Given the description of an element on the screen output the (x, y) to click on. 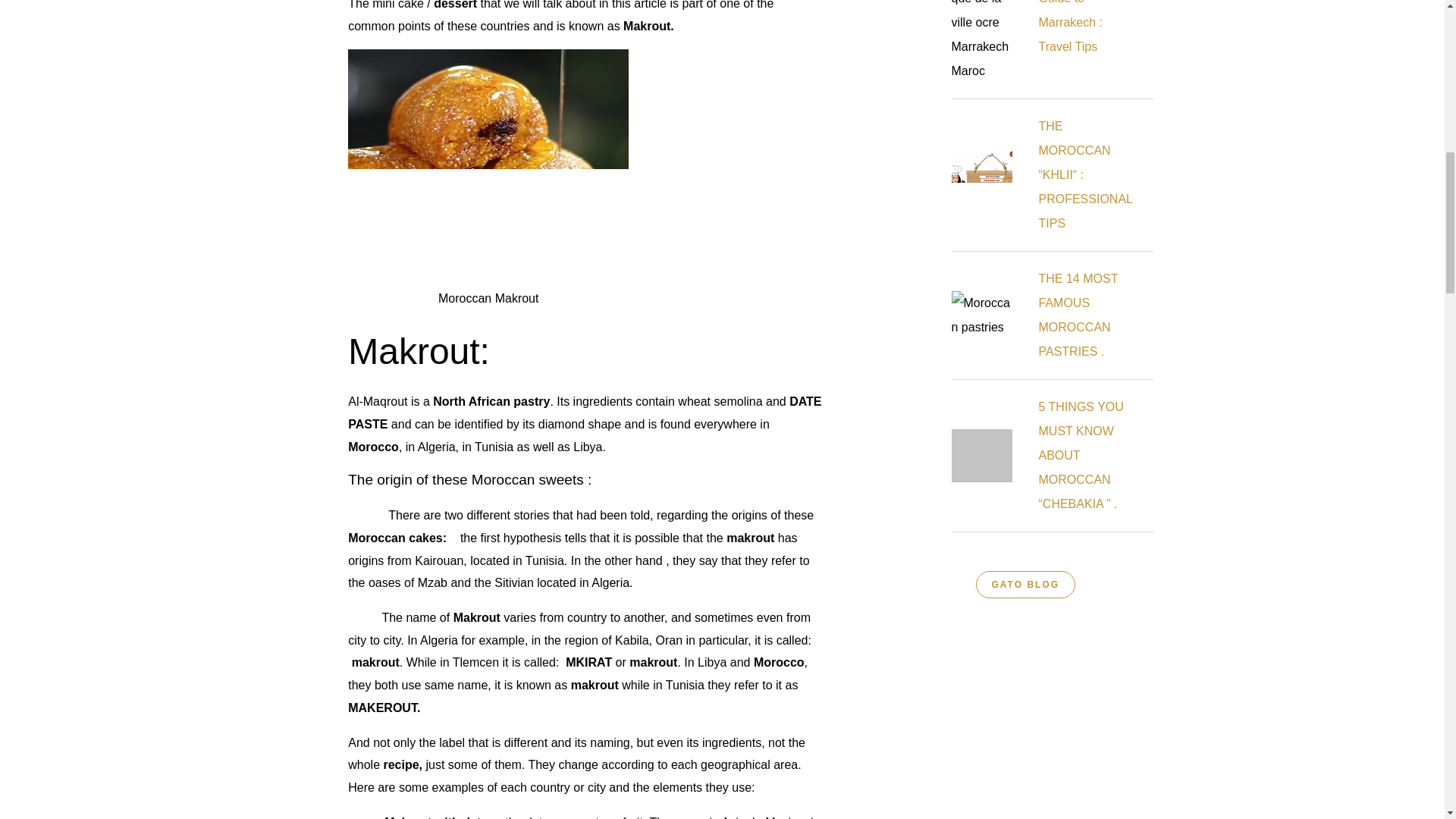
Moroccan cuisine : Traditional recipes and culinary secrets (378, 537)
THE 14 MOST FAMOUS MOROCCAN PASTRIES . (1078, 314)
THE 14 MOST FAMOUS MOROCCAN PASTRIES . 8 (980, 315)
GATO BLOG (1025, 584)
Moroccan Makrout (487, 163)
Moroccan (378, 537)
Your Best Travel Guide to Marrakech : Travel Tips (1082, 26)
